Given the description of an element on the screen output the (x, y) to click on. 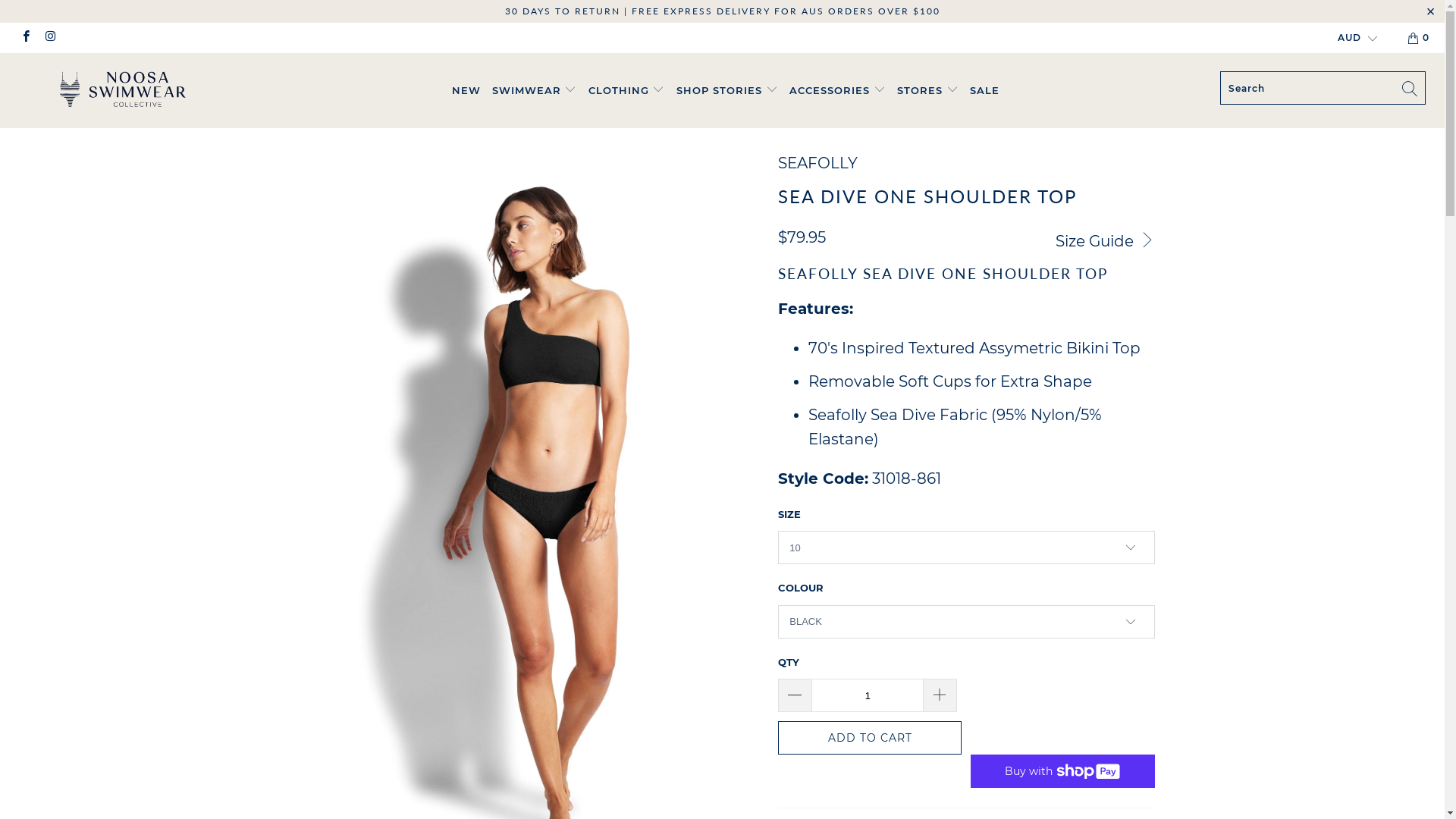
More payment options Element type: text (1062, 770)
Noosa SwimWear Collective Element type: hover (123, 89)
SWIMWEAR Element type: text (533, 90)
SHOP STORIES Element type: text (727, 90)
Size Guide Element type: text (1104, 239)
0 Element type: text (1419, 37)
Noosa SwimWear Collective on Instagram Element type: hover (49, 37)
SALE Element type: text (984, 90)
SEAFOLLY Element type: text (817, 162)
ACCESSORIES Element type: text (837, 90)
Noosa SwimWear Collective on Facebook Element type: hover (24, 37)
CLOTHING Element type: text (626, 90)
ADD TO CART Element type: text (869, 737)
NEW Element type: text (465, 90)
STORES Element type: text (927, 90)
